Given the description of an element on the screen output the (x, y) to click on. 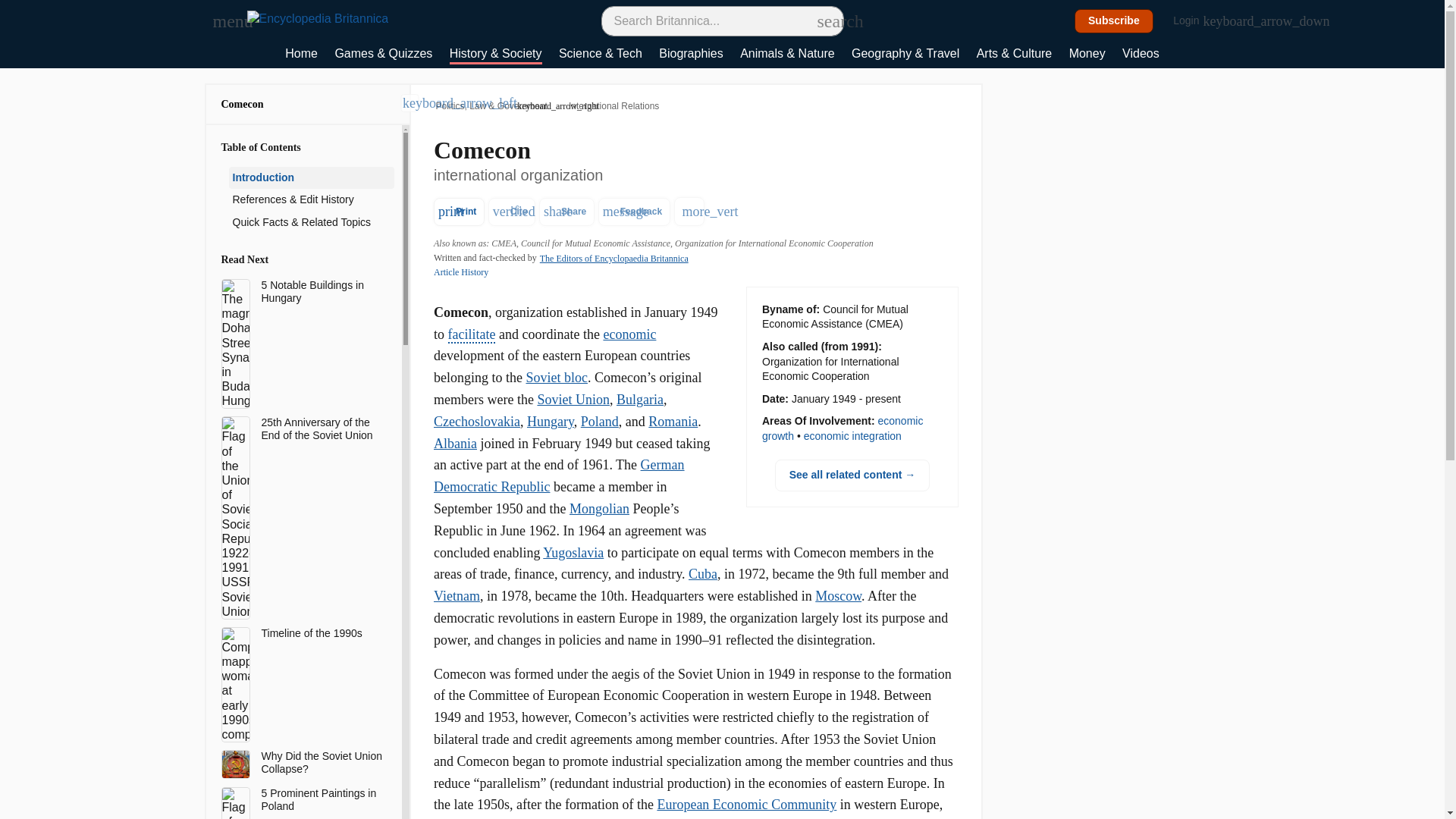
Biographies (721, 54)
Subscribe (1114, 21)
History of Technology Timeline (320, 520)
Money (1117, 54)
5 Prominent Paintings in Poland (320, 438)
Ask the Chatbot (300, 54)
Click here to search (825, 20)
Which Religion Is the Oldest? (320, 557)
25th Anniversary of the End of the Soviet Union (320, 329)
Login (1194, 20)
